Given the description of an element on the screen output the (x, y) to click on. 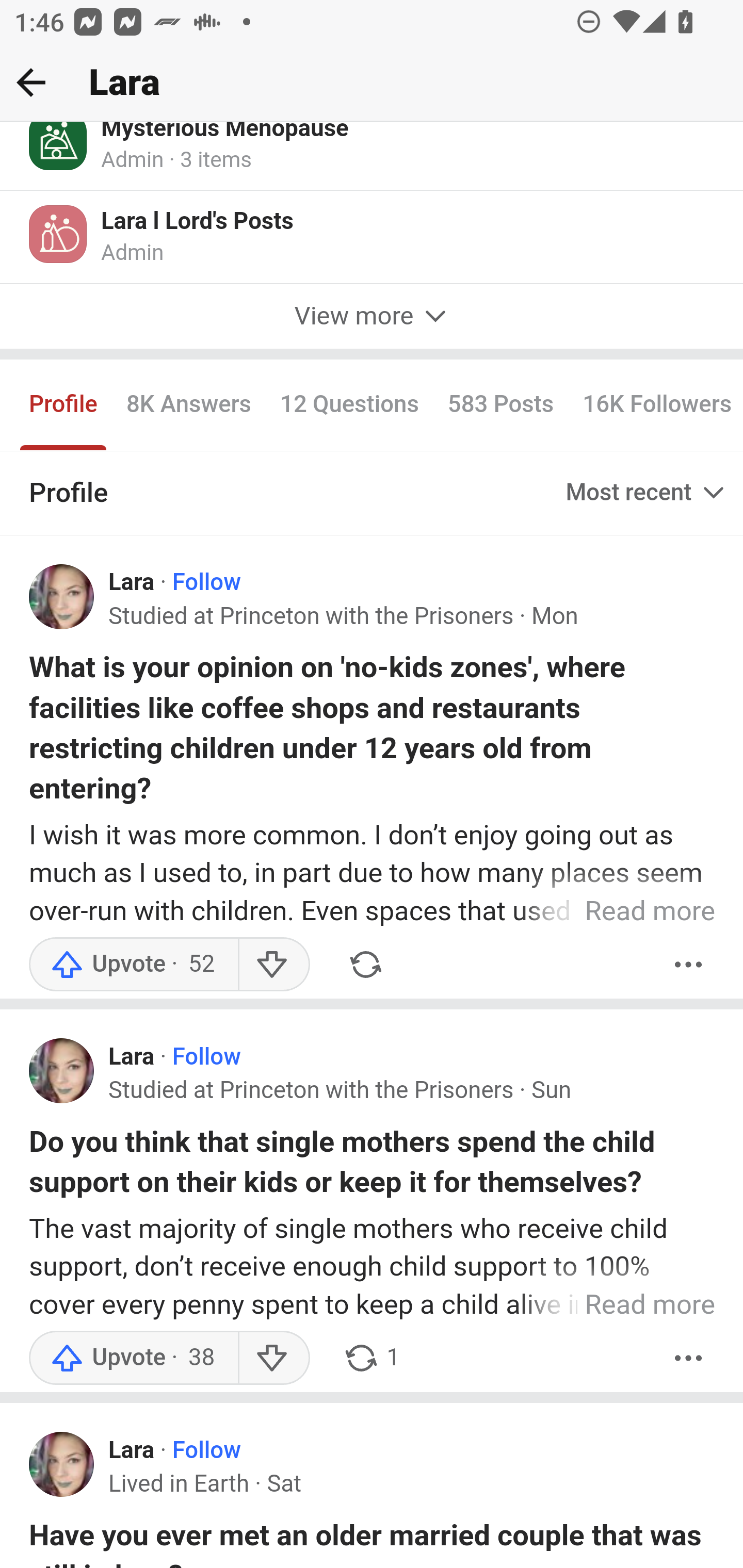
Back (30, 82)
Icon for Mysterious Menopause (58, 147)
Mysterious Menopause (225, 135)
Icon for Lara l Lord's Posts (58, 236)
Lara l Lord's Posts (197, 223)
View more (371, 317)
Profile (63, 406)
8K Answers (188, 406)
12 Questions (349, 406)
583 Posts (499, 406)
16K Followers (654, 406)
Most recent (647, 493)
Profile photo for Lara (61, 597)
Lara (131, 584)
Follow (206, 584)
Upvote (133, 965)
Downvote (273, 965)
Share (365, 965)
More (688, 965)
Profile photo for Lara (61, 1071)
Lara (131, 1058)
Follow (206, 1058)
Upvote (133, 1359)
Downvote (273, 1359)
1 share (371, 1359)
More (688, 1359)
Profile photo for Lara (61, 1465)
Lara (131, 1451)
Follow (206, 1451)
